Given the description of an element on the screen output the (x, y) to click on. 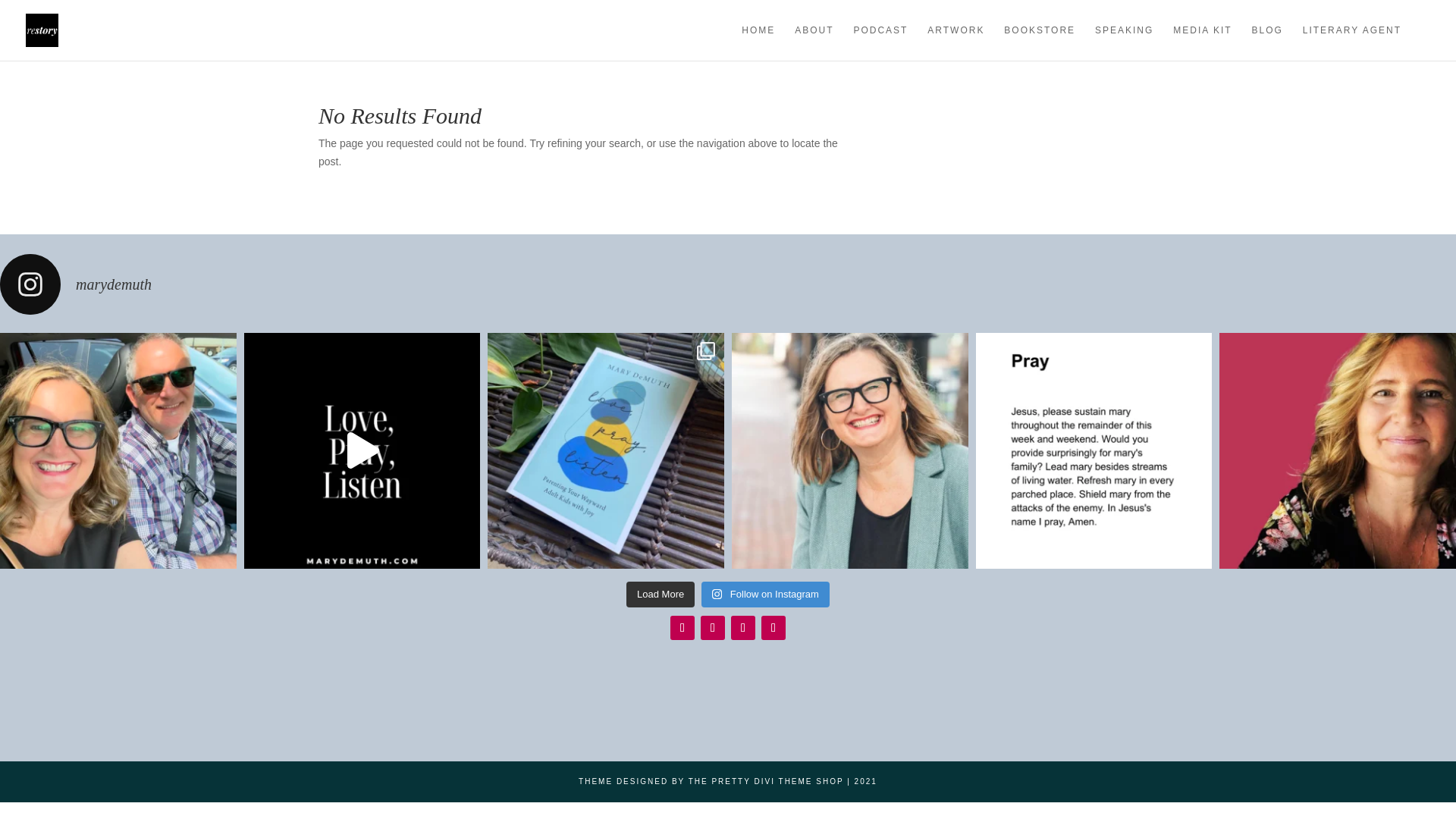
THE PRETTY DIVI THEME SHOP (766, 781)
MEDIA KIT (1202, 42)
ABOUT (813, 42)
SPEAKING (1123, 42)
BOOKSTORE (1039, 42)
HOME (757, 42)
PODCAST (880, 42)
Follow on Instagram (681, 627)
LITERARY AGENT (1351, 42)
Follow on Youtube (773, 627)
